Given the description of an element on the screen output the (x, y) to click on. 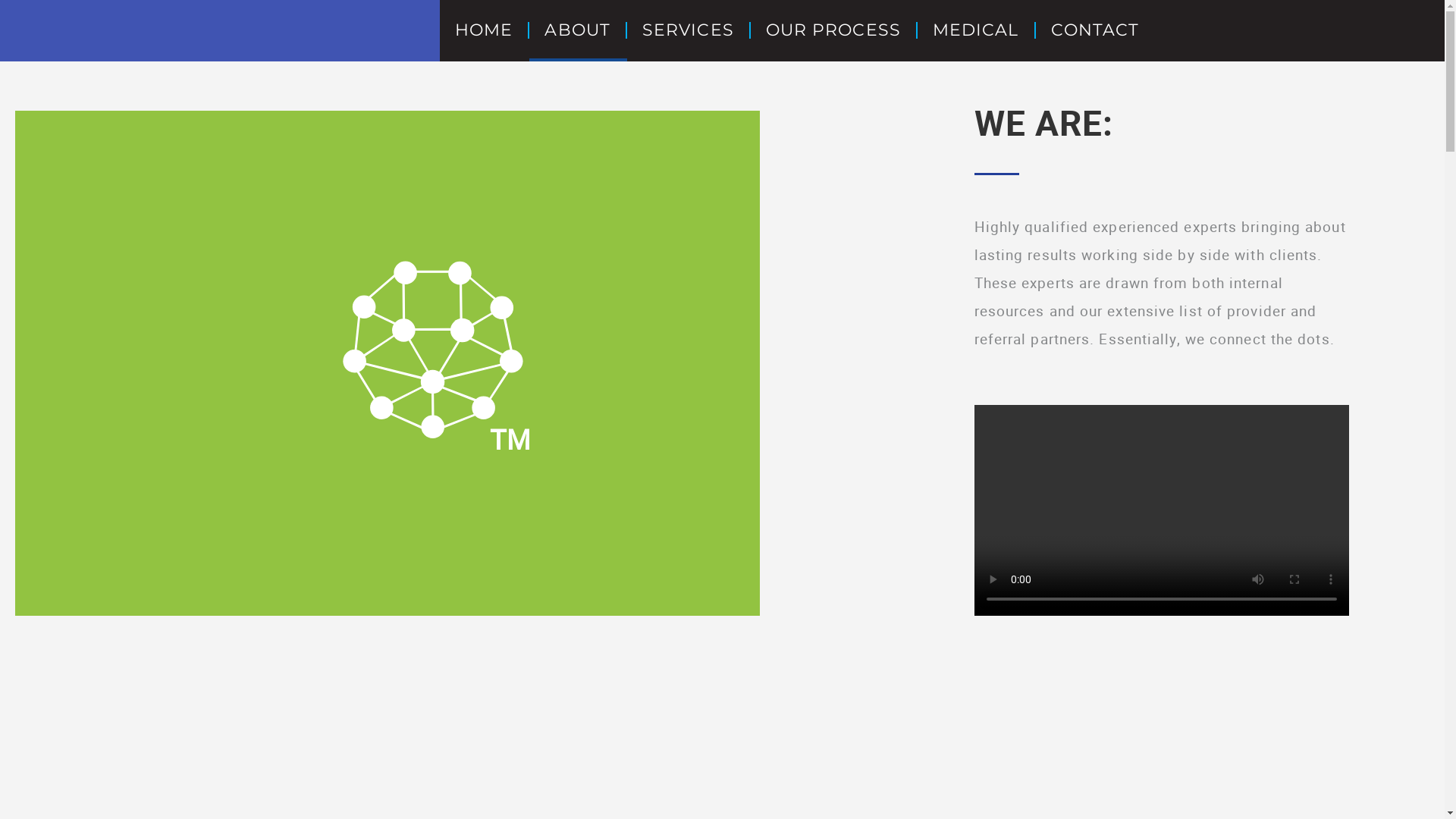
HOME Element type: text (484, 29)
OUR PROCESS Element type: text (833, 29)
CONTACT Element type: text (1094, 29)
ABOUT Element type: text (578, 29)
SERVICES Element type: text (688, 29)
MEDICAL Element type: text (976, 29)
